Given the description of an element on the screen output the (x, y) to click on. 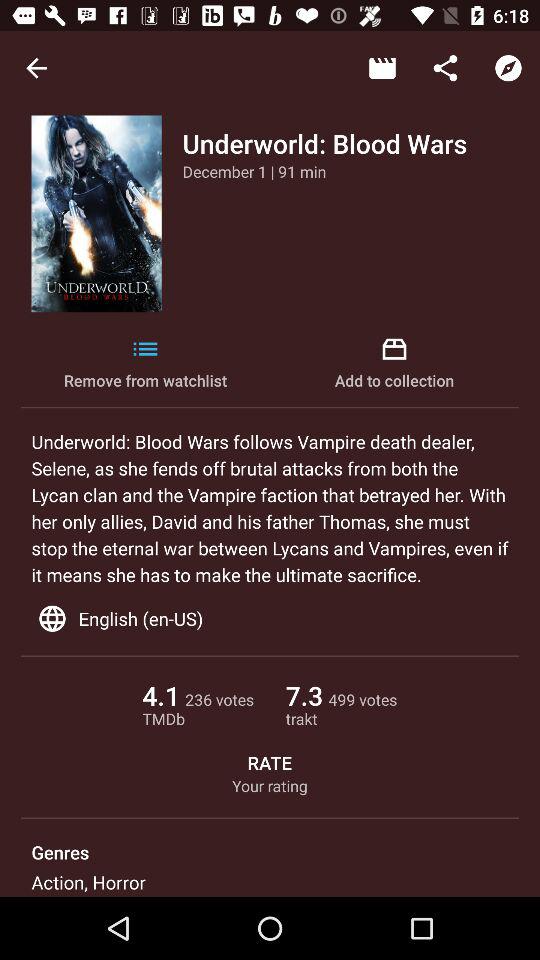
jump until english (en-us) icon (270, 618)
